Given the description of an element on the screen output the (x, y) to click on. 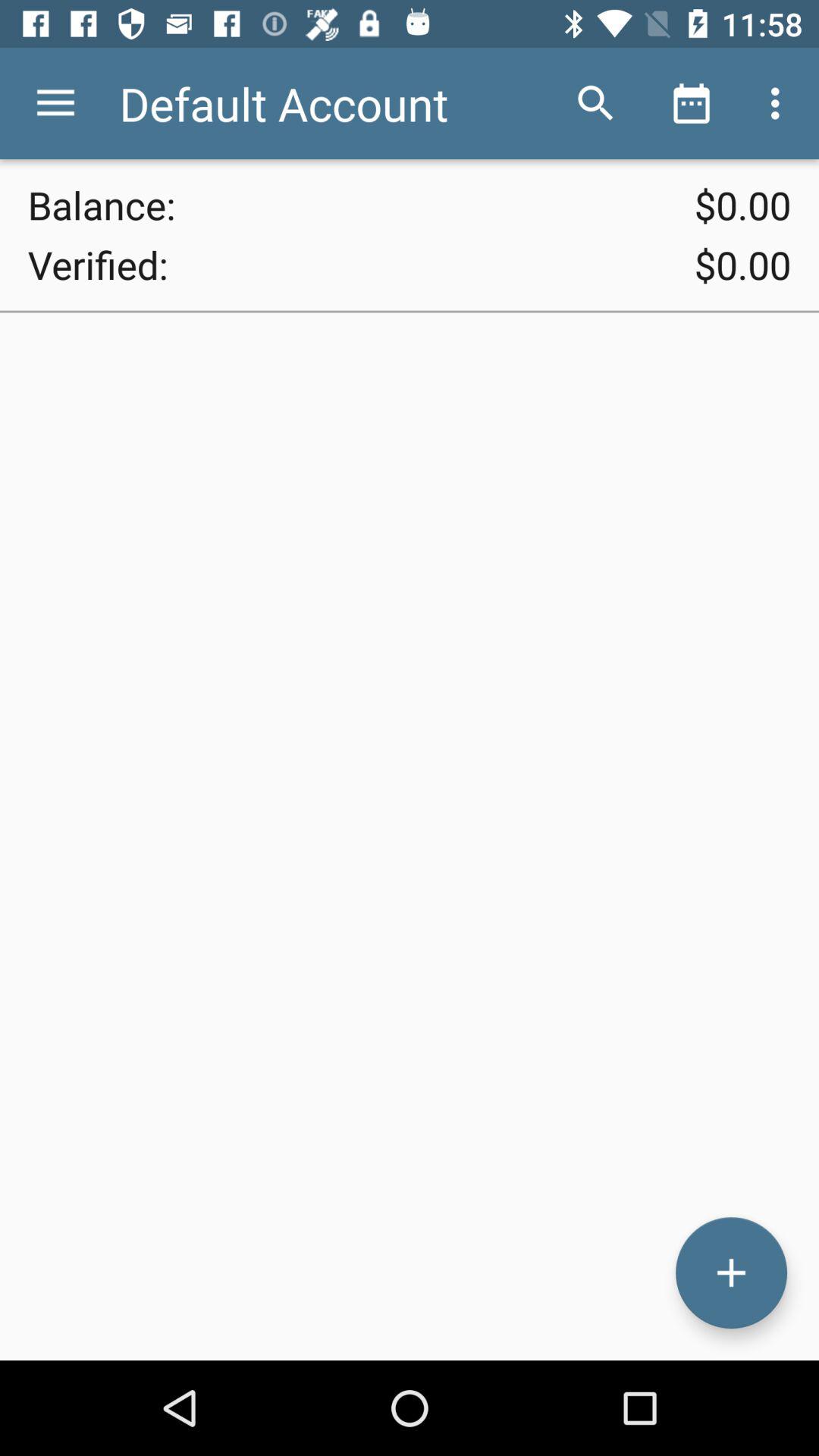
add transaction (731, 1272)
